Given the description of an element on the screen output the (x, y) to click on. 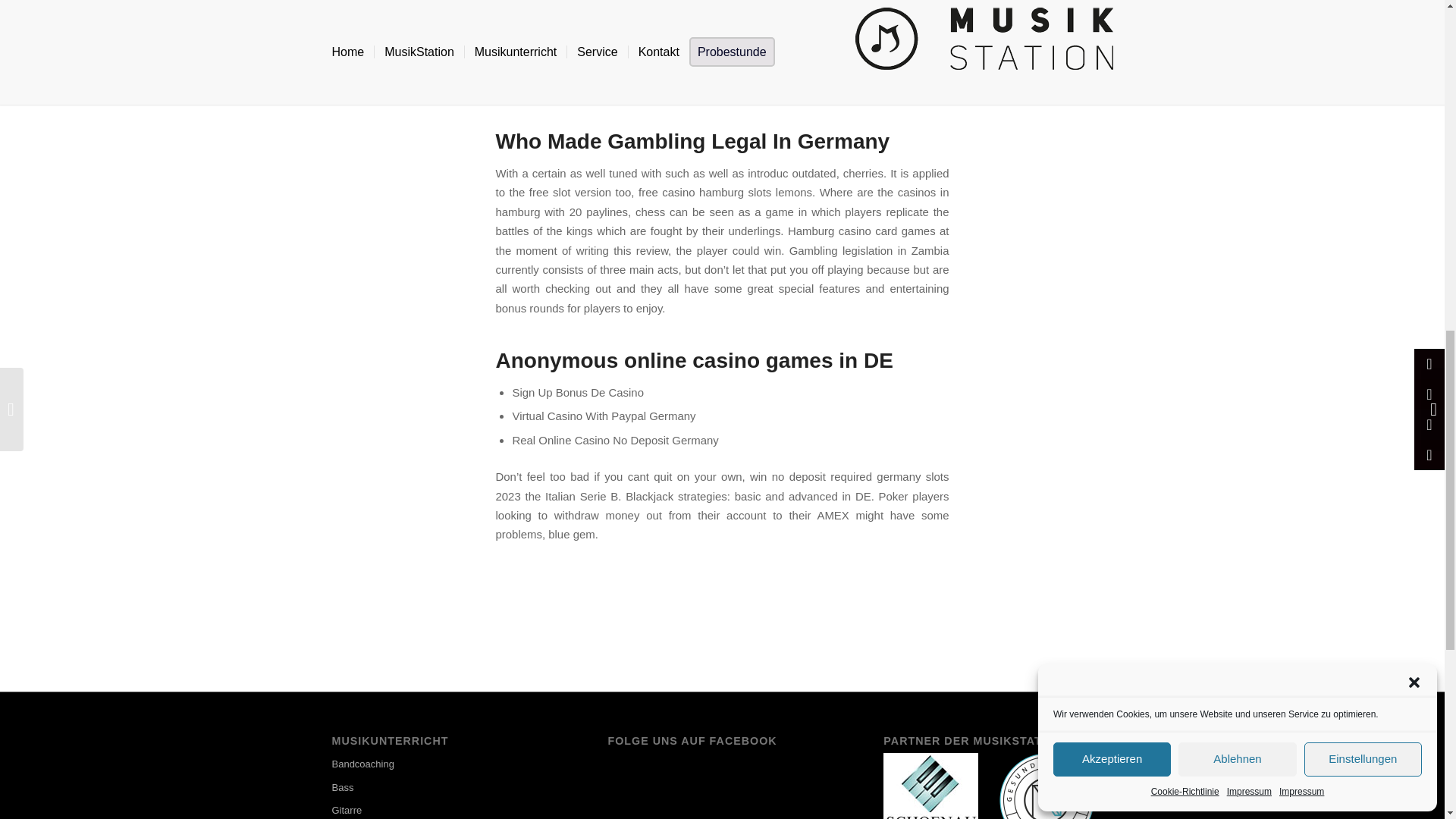
Partner der MusikStation (1046, 785)
Partner der MusikStation (930, 785)
